Given the description of an element on the screen output the (x, y) to click on. 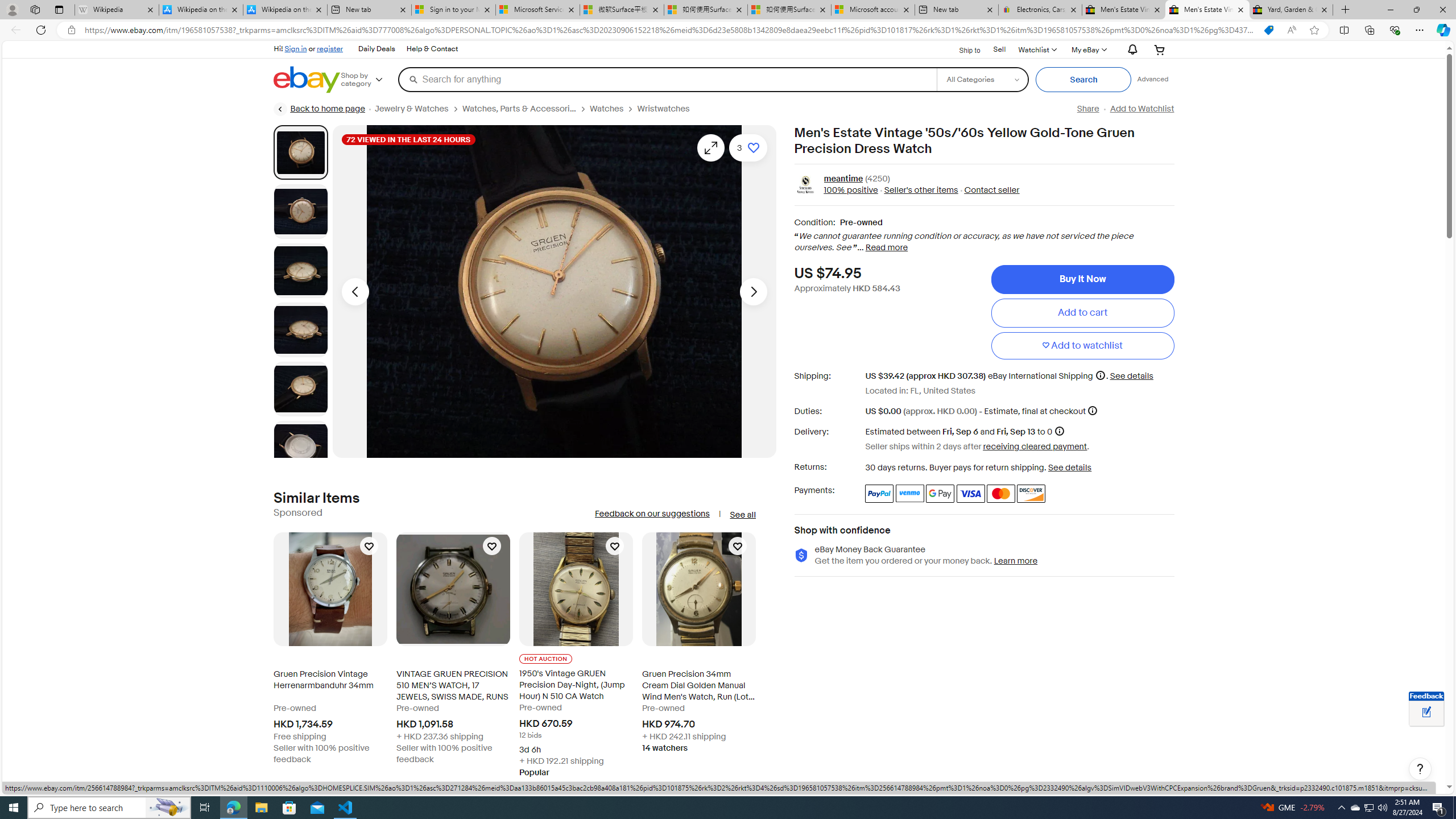
Back to home page (319, 109)
AutomationID: gh-eb-Alerts (1131, 49)
Read more about condition (886, 247)
100% positive (850, 190)
eBay Home (306, 79)
Jewelry & Watches (418, 108)
Opens image gallery (711, 147)
Picture 4 of 8 (300, 329)
